Given the description of an element on the screen output the (x, y) to click on. 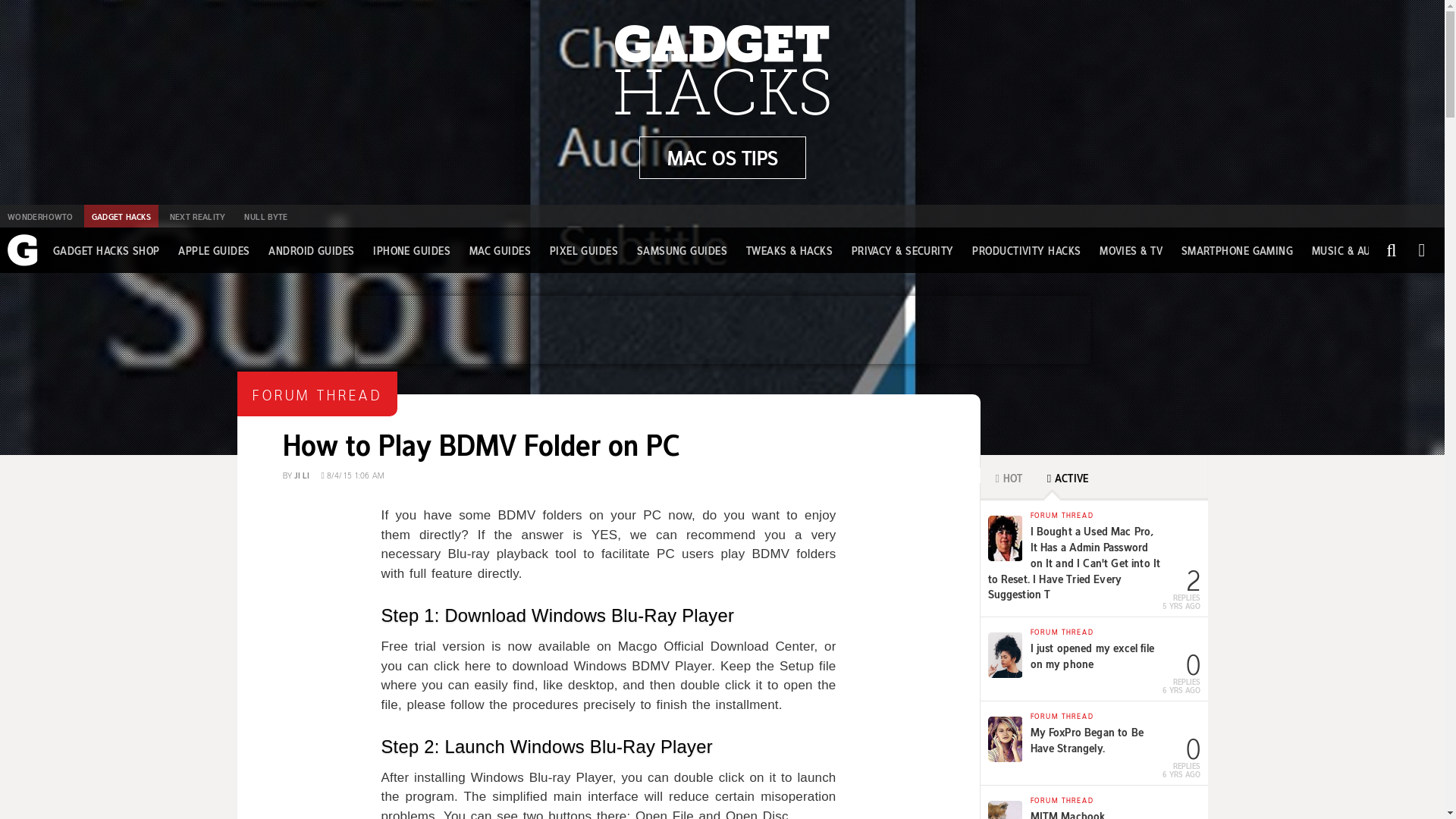
WONDERHOWTO (40, 215)
PIXEL GUIDES (583, 249)
GADGET HACKS (121, 215)
NEXT REALITY (196, 215)
JI LI (302, 473)
APPLE GUIDES (212, 249)
IPHONE GUIDES (410, 249)
MAC GUIDES (499, 249)
SMARTPHONE GAMING (1237, 249)
MAC OS TIPS (722, 157)
How to Play BDMV Folder on PC (480, 441)
ANDROID GUIDES (310, 249)
Getting things done quicker on a Mac, iPhone, and iPad (722, 157)
NULL BYTE (265, 215)
PRODUCTIVITY HACKS (1026, 249)
